Given the description of an element on the screen output the (x, y) to click on. 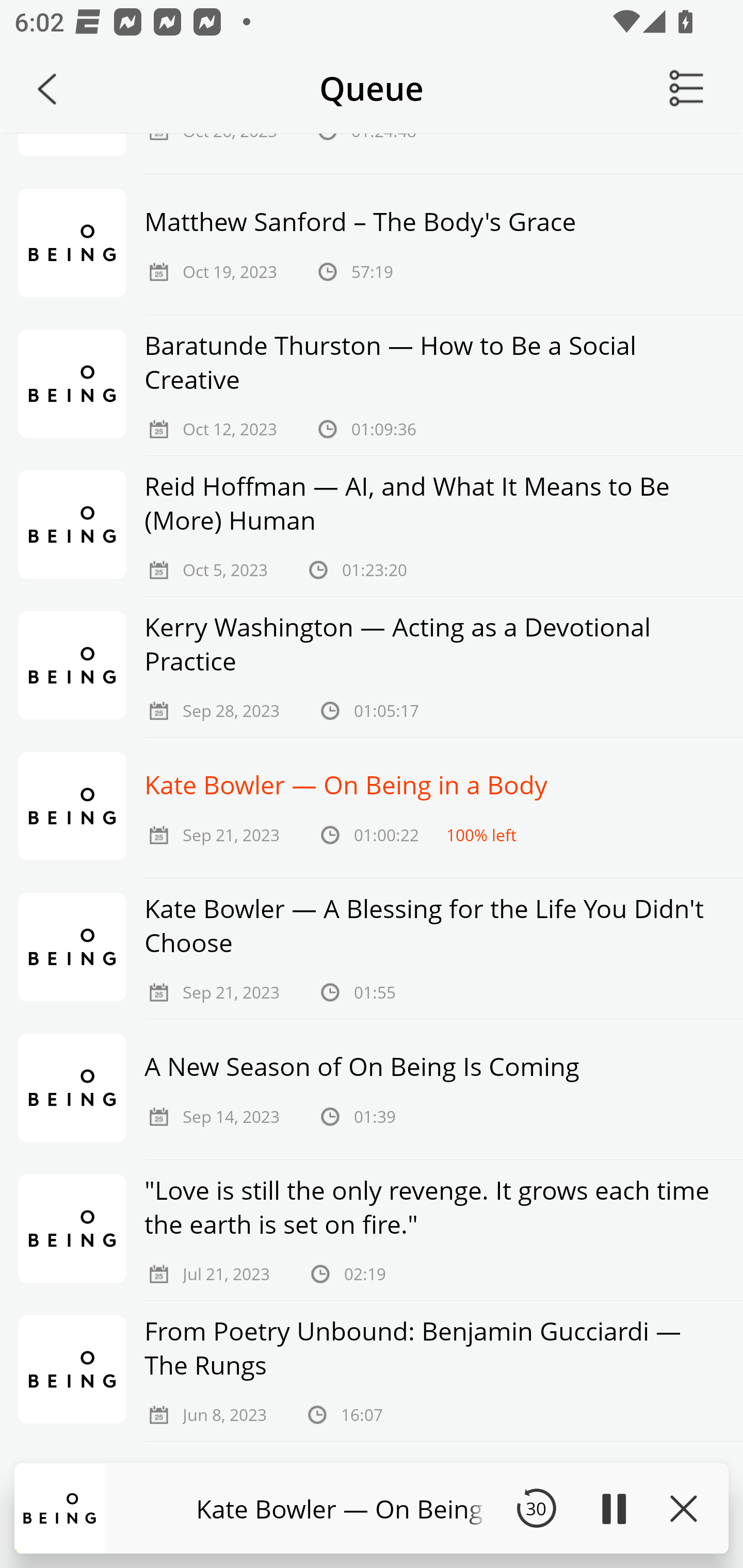
Back (46, 88)
Play (613, 1507)
30 Seek Backward (536, 1508)
